Given the description of an element on the screen output the (x, y) to click on. 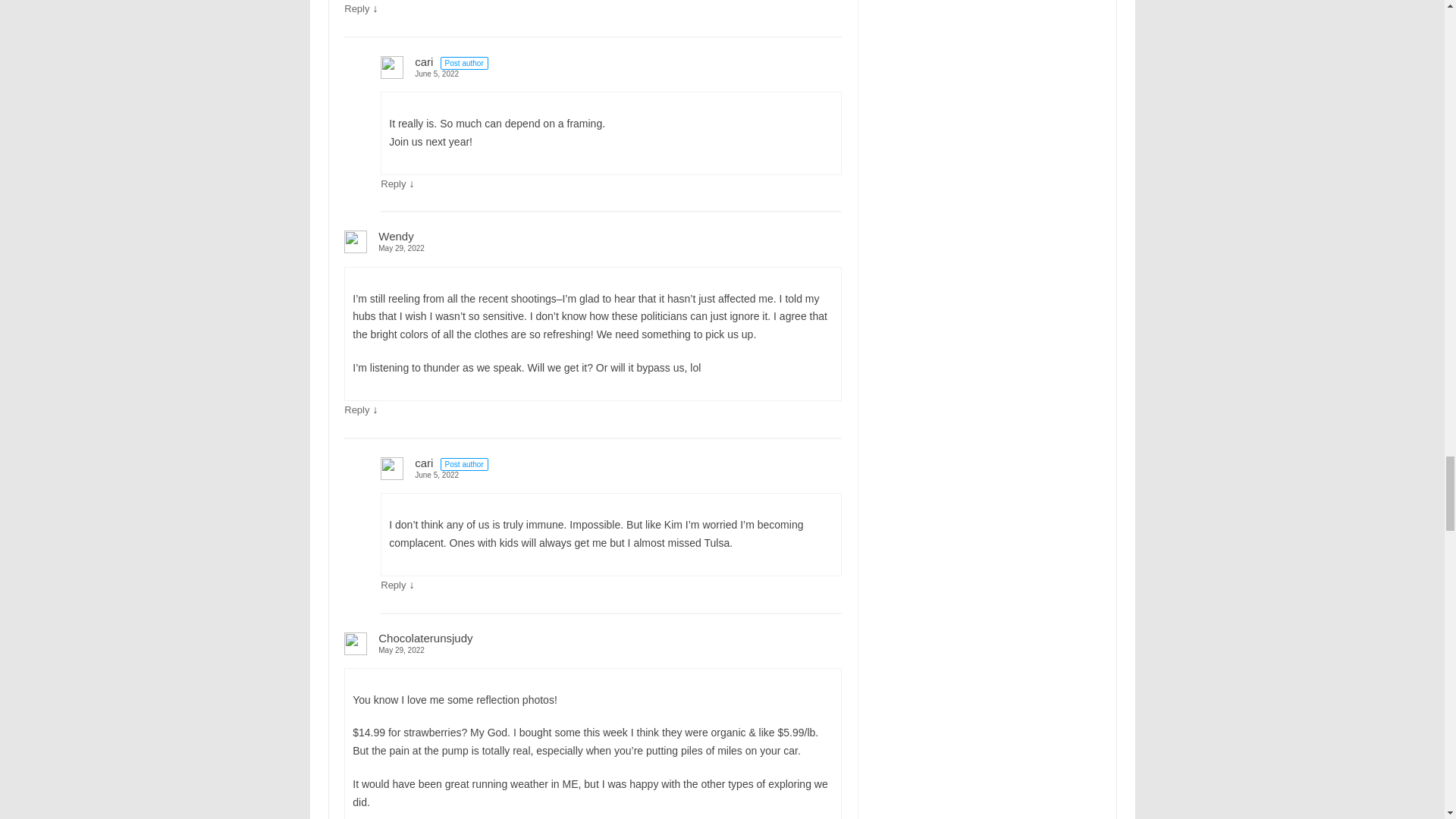
Wendy (395, 236)
Reply (356, 8)
June 5, 2022 (610, 73)
Reply (393, 183)
